Given the description of an element on the screen output the (x, y) to click on. 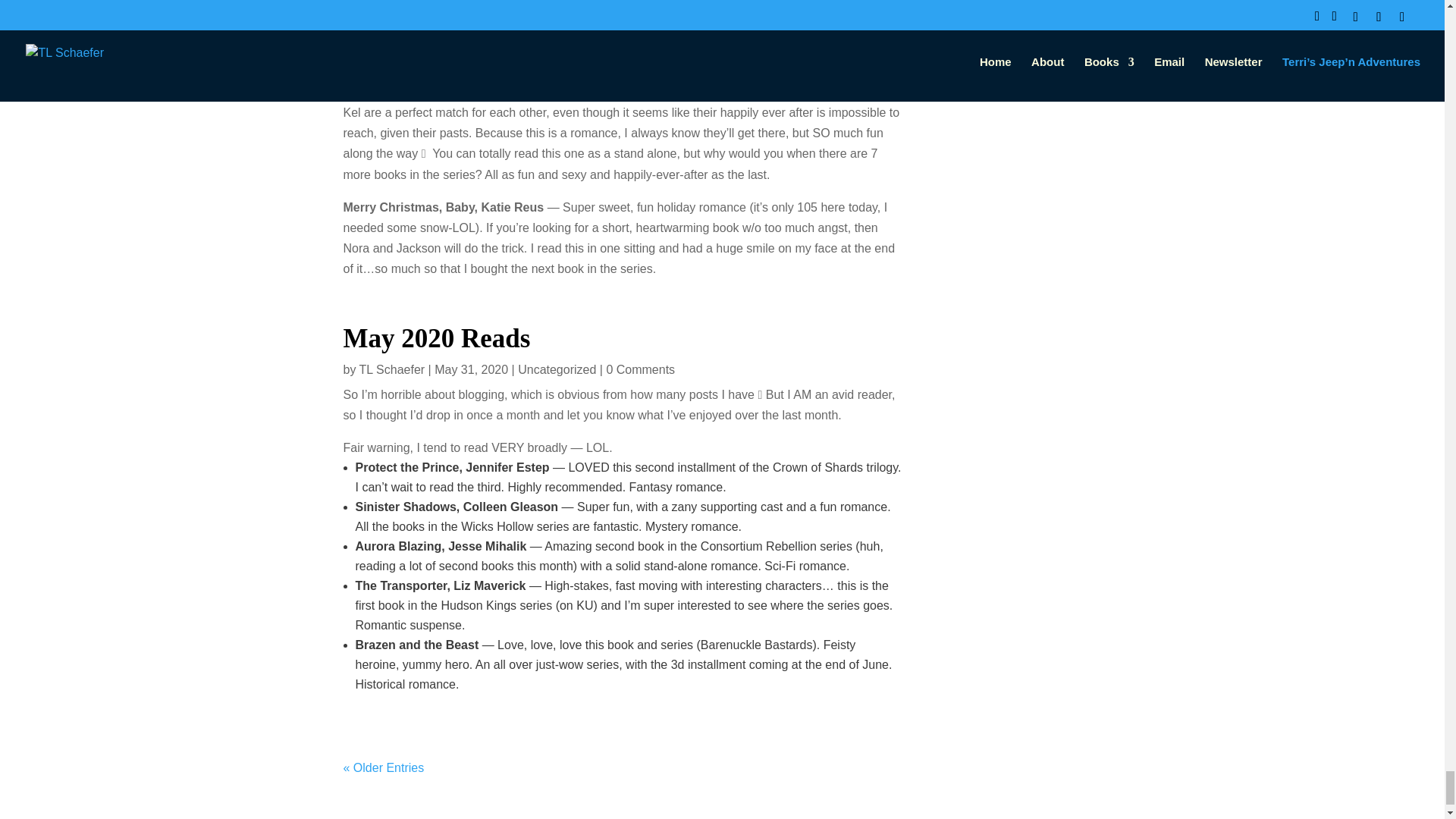
Posts by TL Schaefer (392, 368)
